Given the description of an element on the screen output the (x, y) to click on. 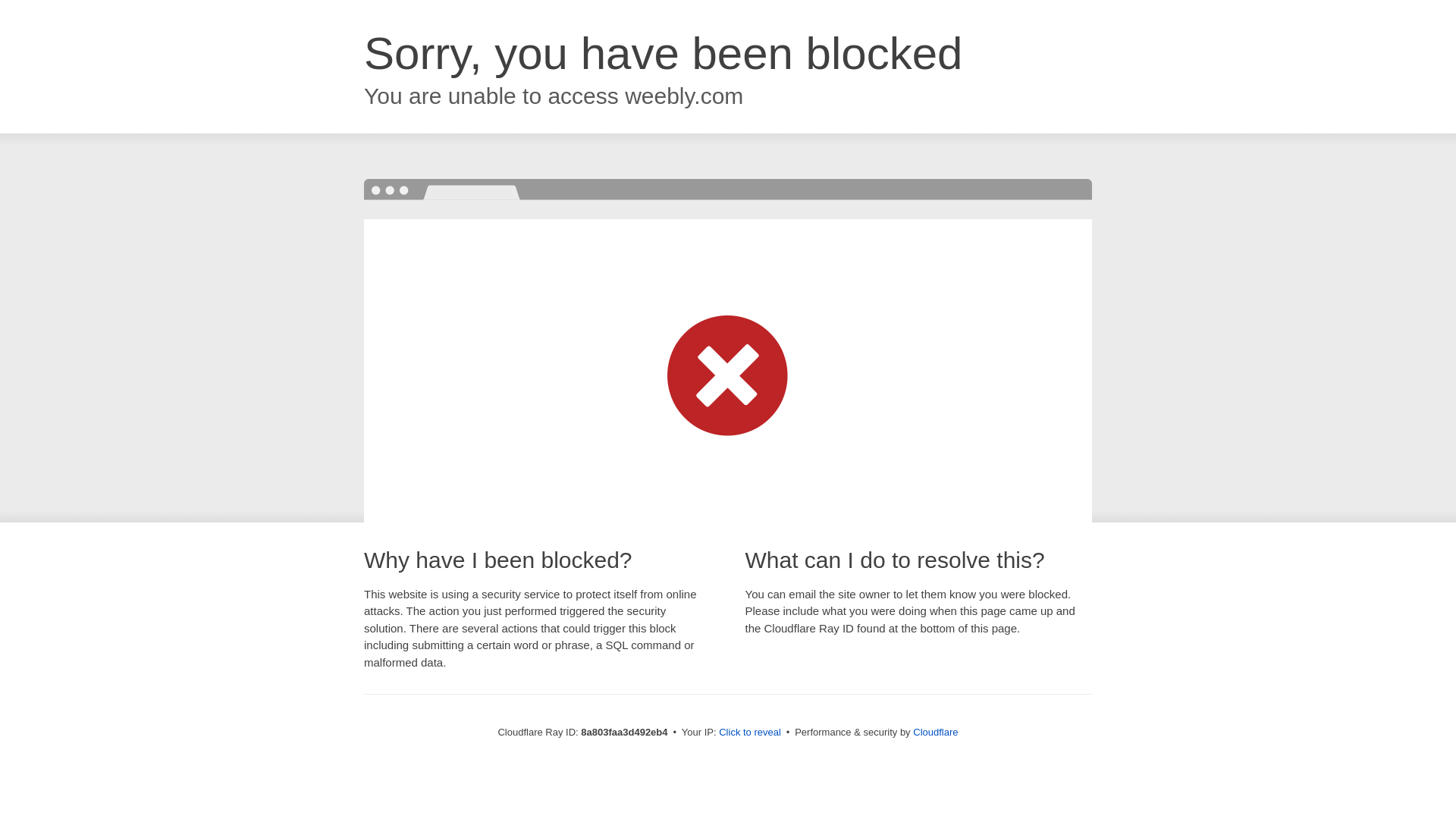
Cloudflare (935, 731)
Click to reveal (749, 732)
